Given the description of an element on the screen output the (x, y) to click on. 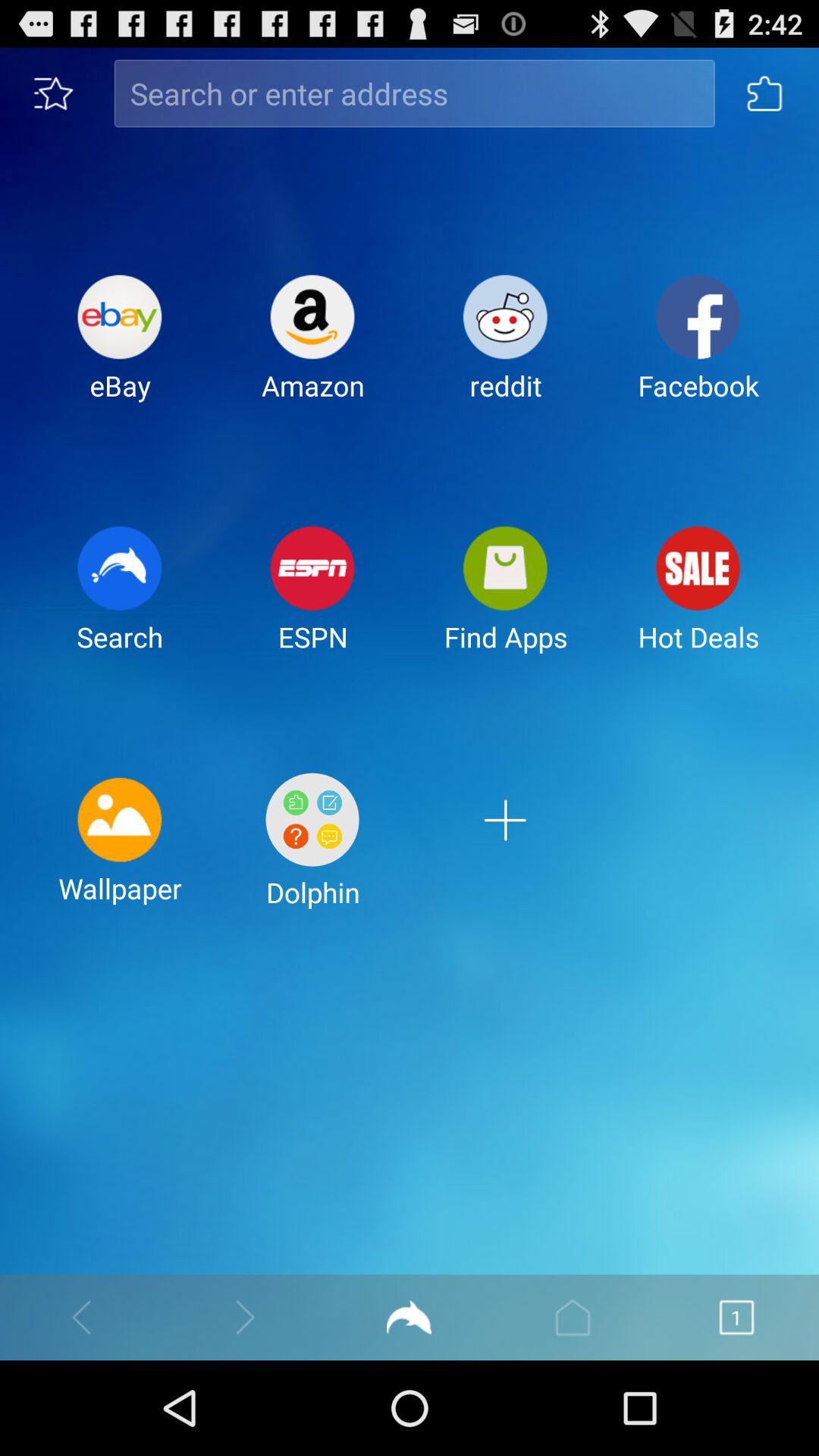
tap item below the find apps item (505, 852)
